Given the description of an element on the screen output the (x, y) to click on. 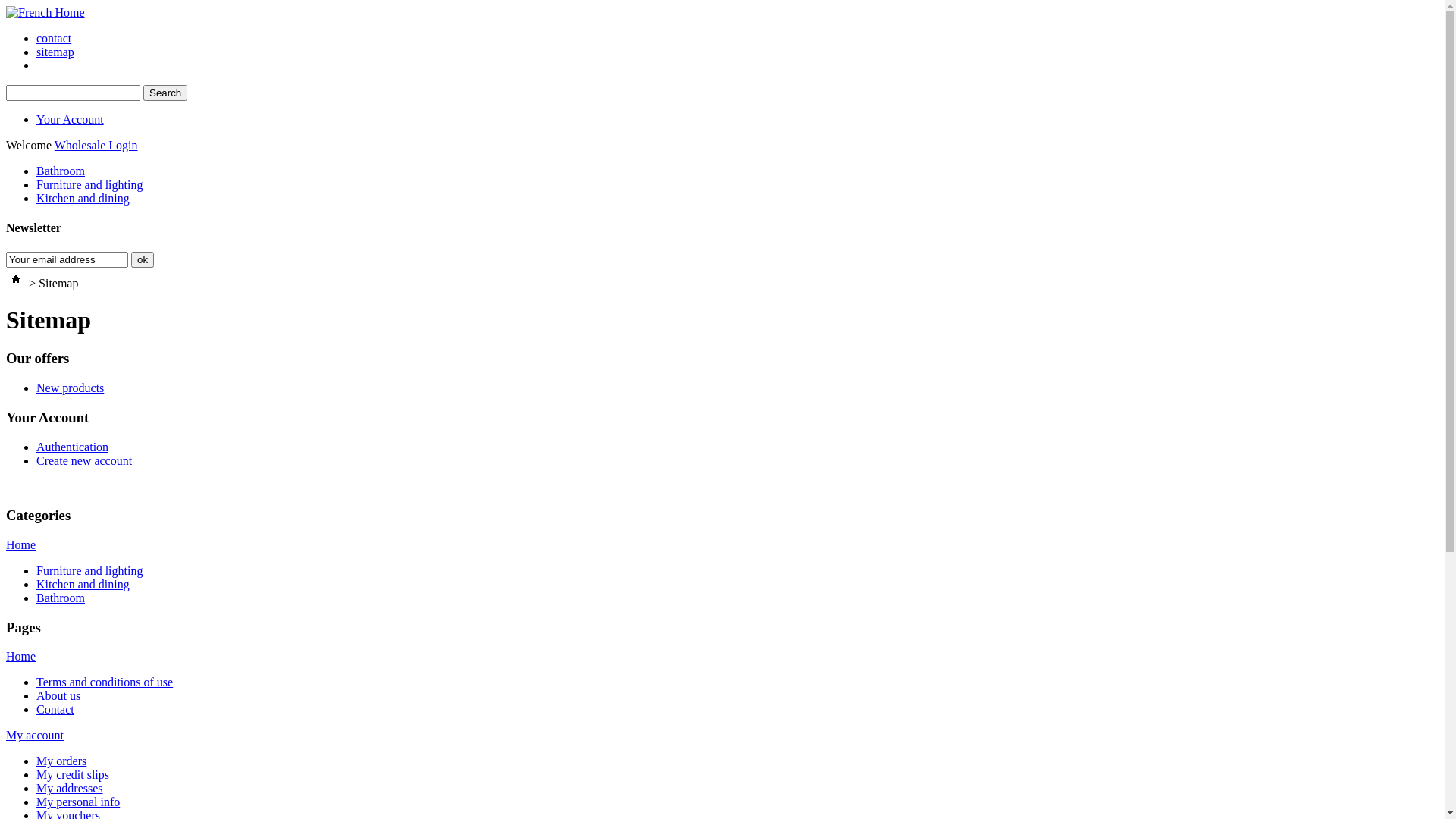
Return to Home Element type: hover (15, 282)
Bathroom Element type: text (60, 597)
Terms and conditions of use Element type: text (104, 681)
Home Element type: text (20, 655)
ok Element type: text (142, 259)
contact Element type: text (53, 37)
My credit slips Element type: text (72, 774)
Kitchen and dining Element type: text (82, 583)
Your Account Element type: text (69, 118)
Home Element type: text (20, 544)
New products Element type: text (69, 387)
Bathroom Element type: text (60, 170)
About us Element type: text (58, 695)
French Home Element type: hover (45, 12)
Furniture and lighting Element type: text (89, 184)
Wholesale Login Element type: text (96, 144)
Authentication Element type: text (72, 446)
My personal info Element type: text (77, 801)
Create new account Element type: text (83, 460)
Kitchen and dining Element type: text (82, 197)
Search Element type: text (165, 92)
Furniture and lighting Element type: text (89, 570)
Contact Element type: text (55, 708)
sitemap Element type: text (55, 51)
My orders Element type: text (61, 760)
My addresses Element type: text (69, 787)
My account Element type: text (34, 734)
